Given the description of an element on the screen output the (x, y) to click on. 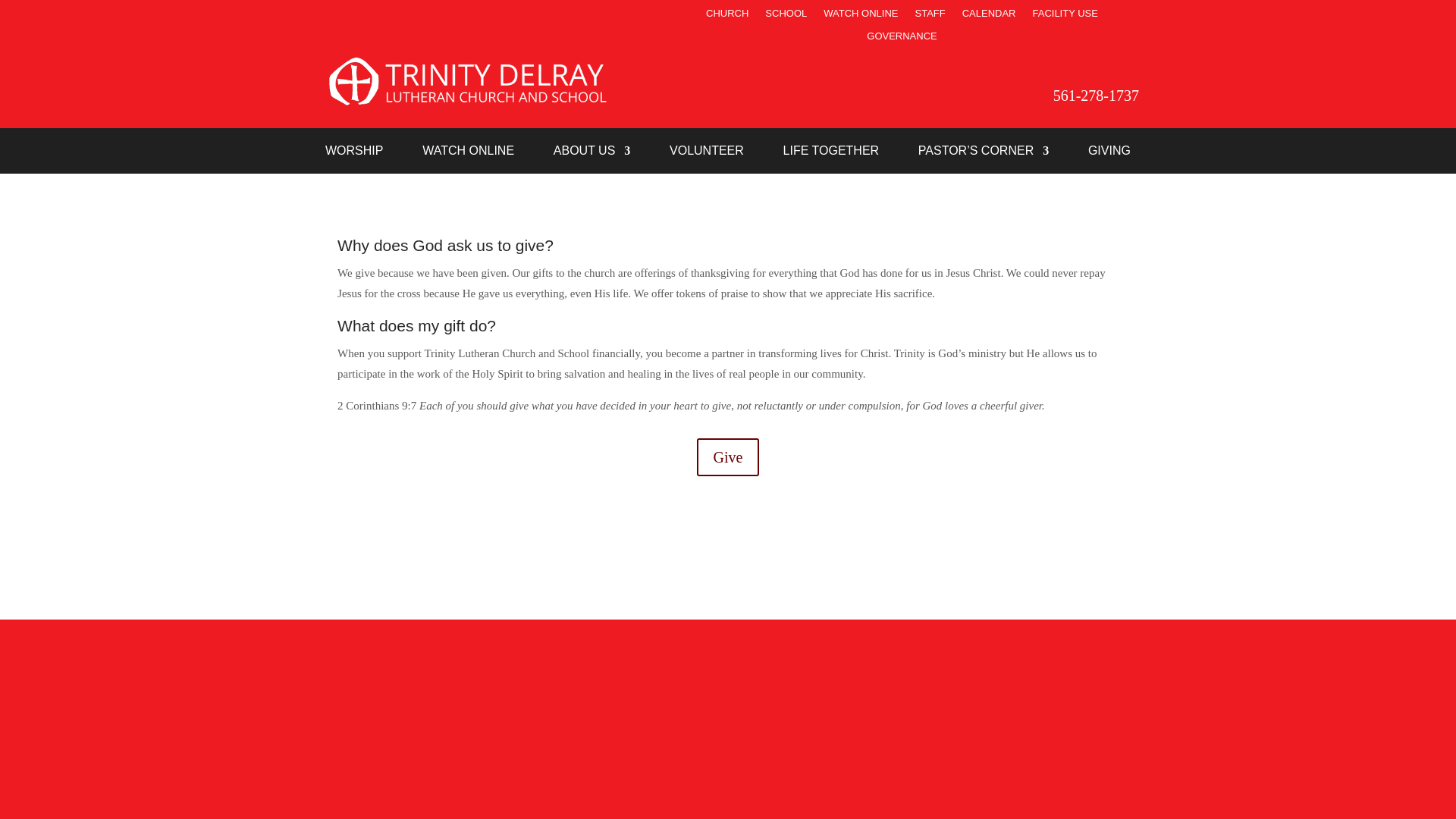
GOVERNANCE (901, 39)
STAFF (929, 16)
WORSHIP (353, 153)
LIFE TOGETHER (831, 153)
WATCH ONLINE (467, 153)
SCHOOL (785, 16)
ABOUT US (591, 153)
VOLUNTEER (706, 153)
FACILITY USE (1064, 16)
WATCH ONLINE (861, 16)
GIVING (1109, 153)
CALENDAR (989, 16)
CHURCH (727, 16)
